Given the description of an element on the screen output the (x, y) to click on. 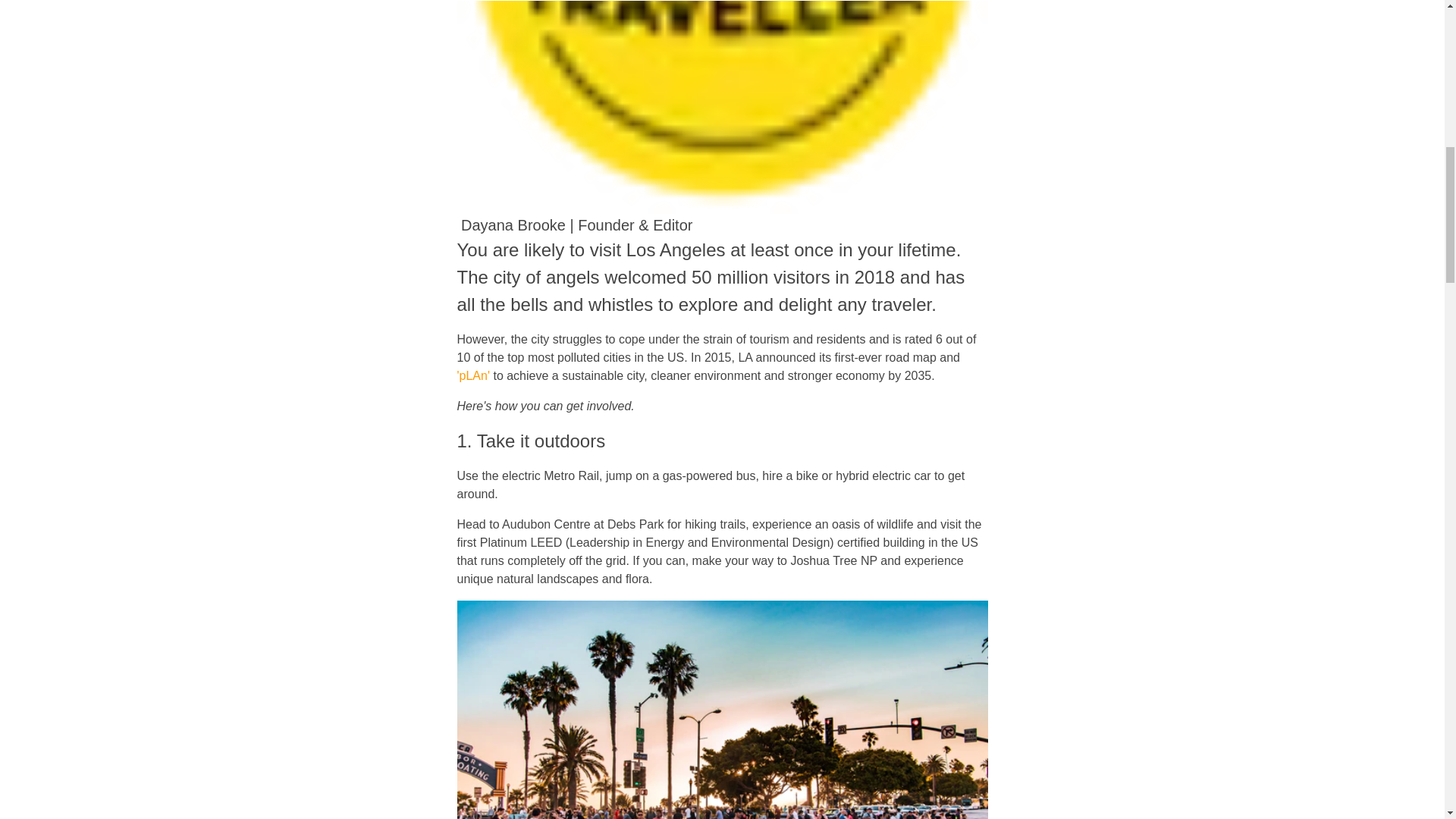
LEED (545, 542)
'pLAn' (473, 375)
Audubon Centre at Debs Park (584, 523)
